Given the description of an element on the screen output the (x, y) to click on. 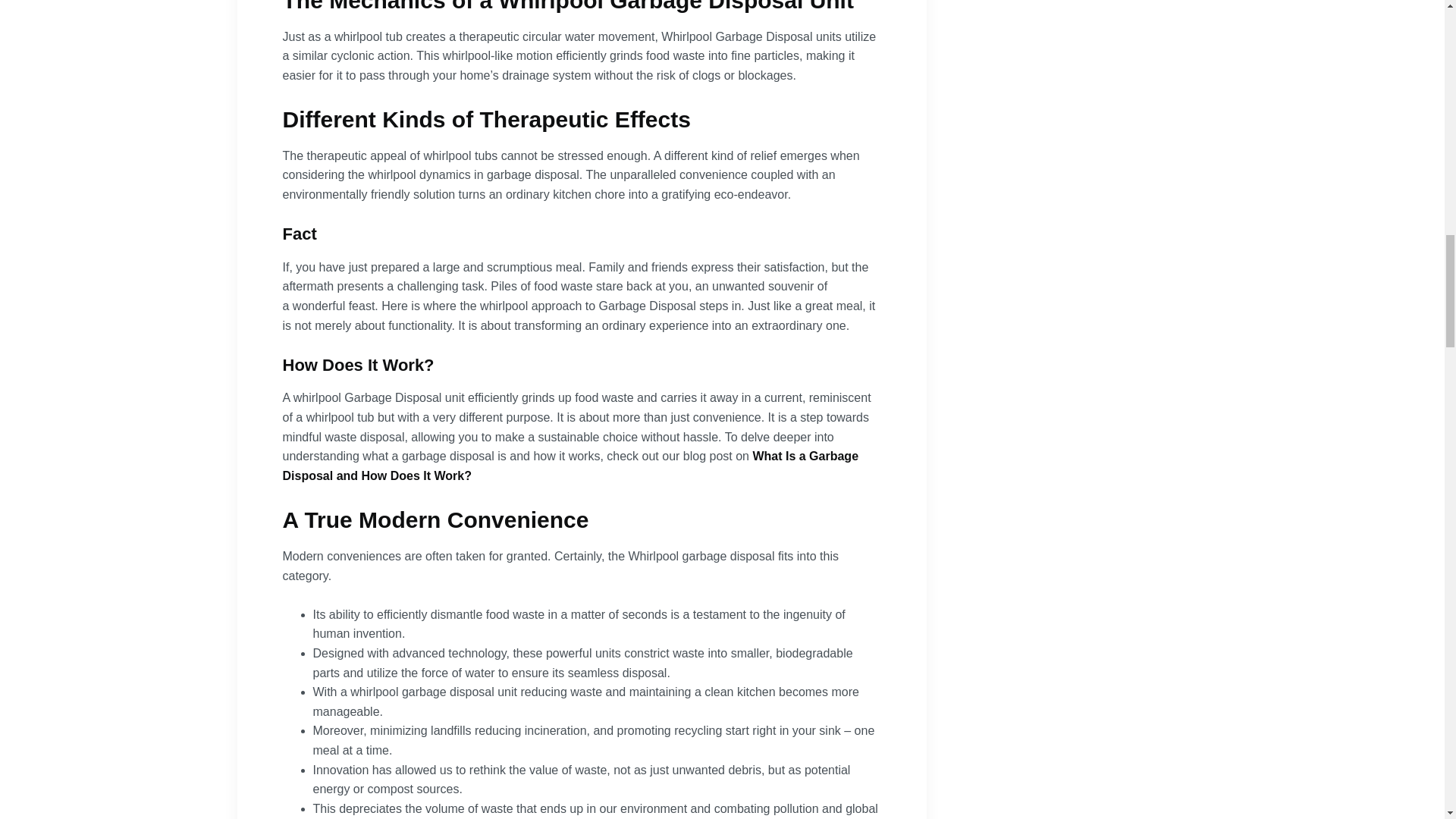
What Is a Garbage Disposal and How Does It Work? (570, 465)
